Given the description of an element on the screen output the (x, y) to click on. 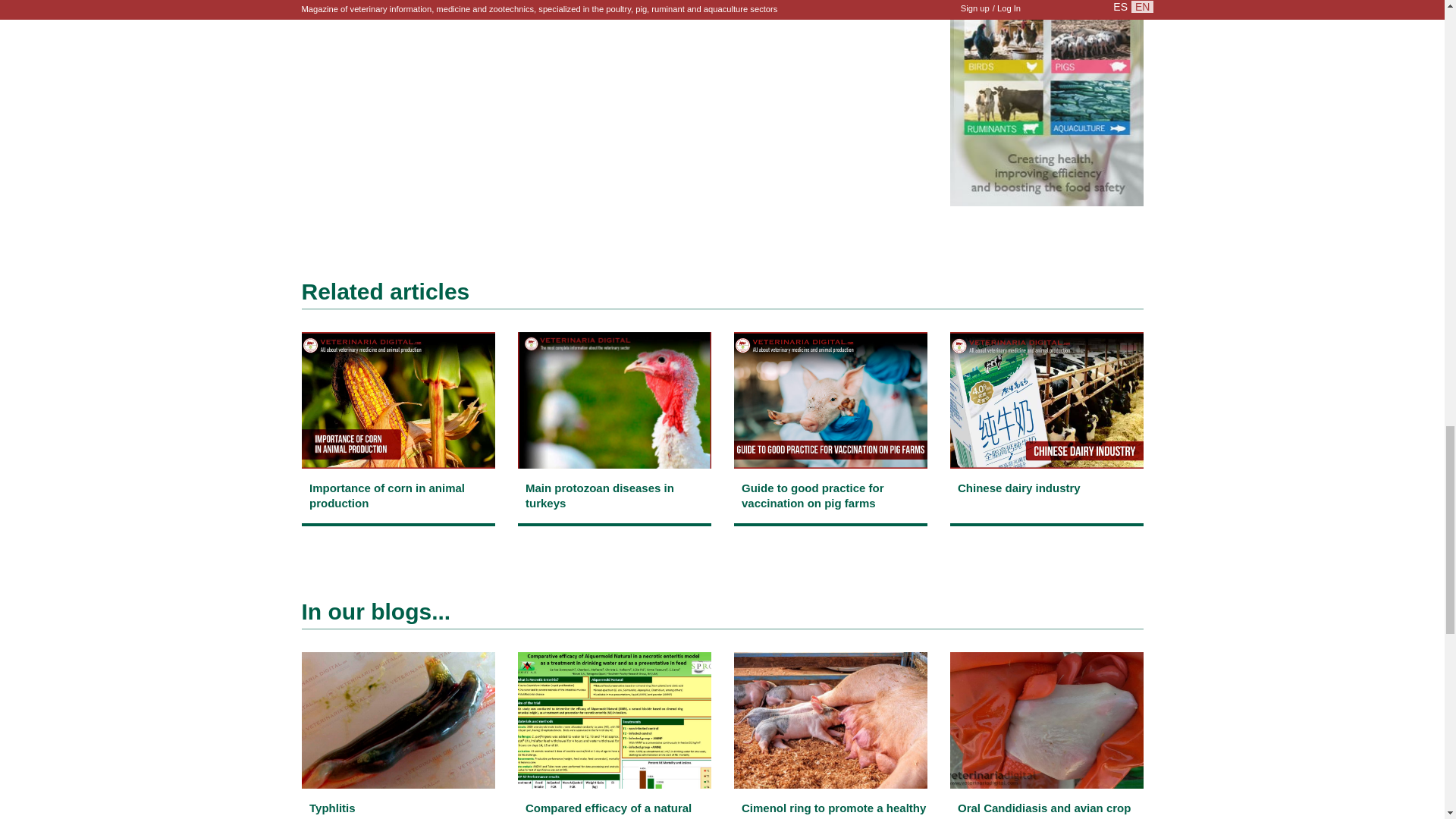
Biovet-banner-V-en (1045, 103)
